Given the description of an element on the screen output the (x, y) to click on. 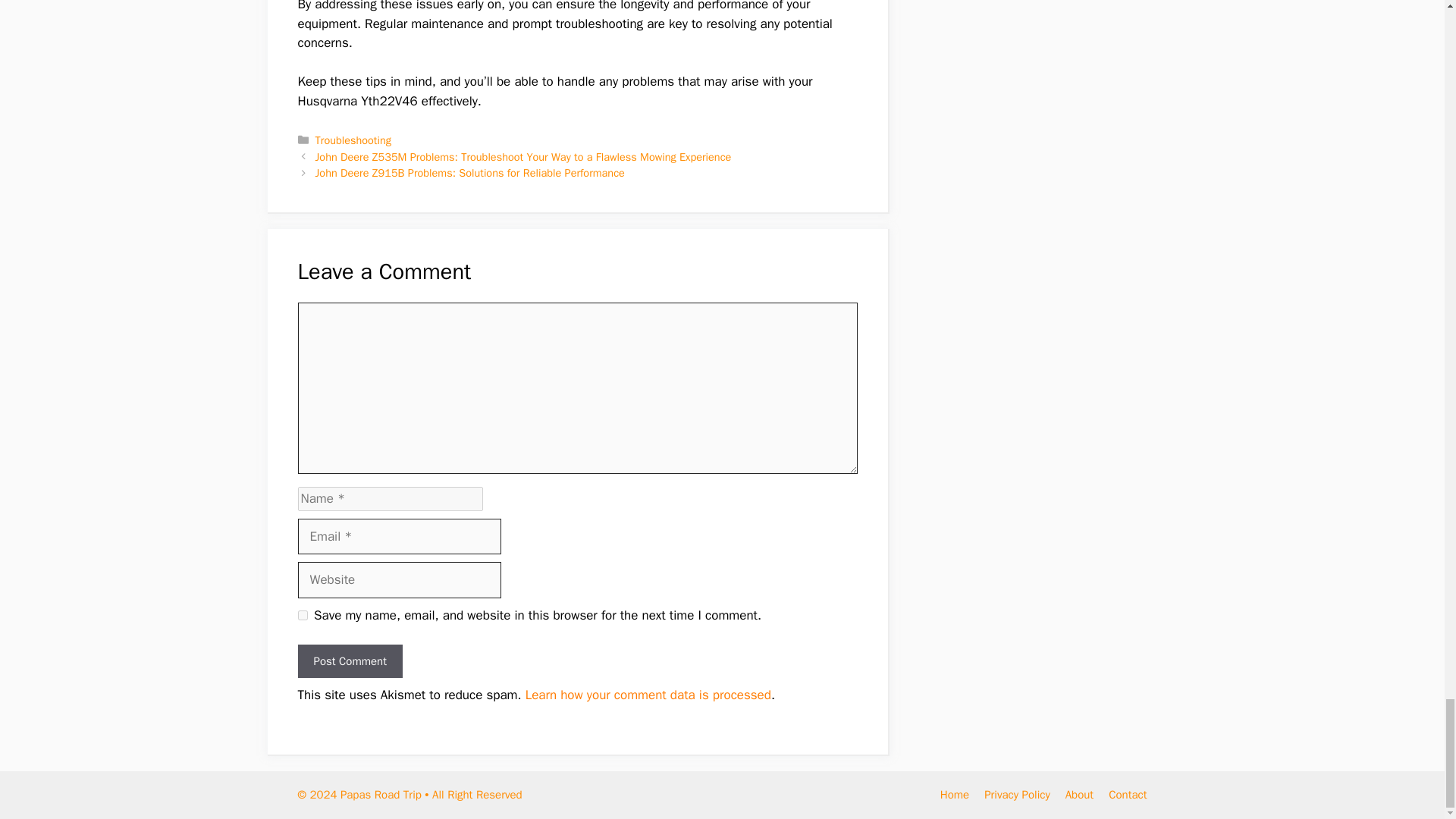
Troubleshooting (353, 140)
Post Comment (349, 661)
yes (302, 614)
Post Comment (349, 661)
